Given the description of an element on the screen output the (x, y) to click on. 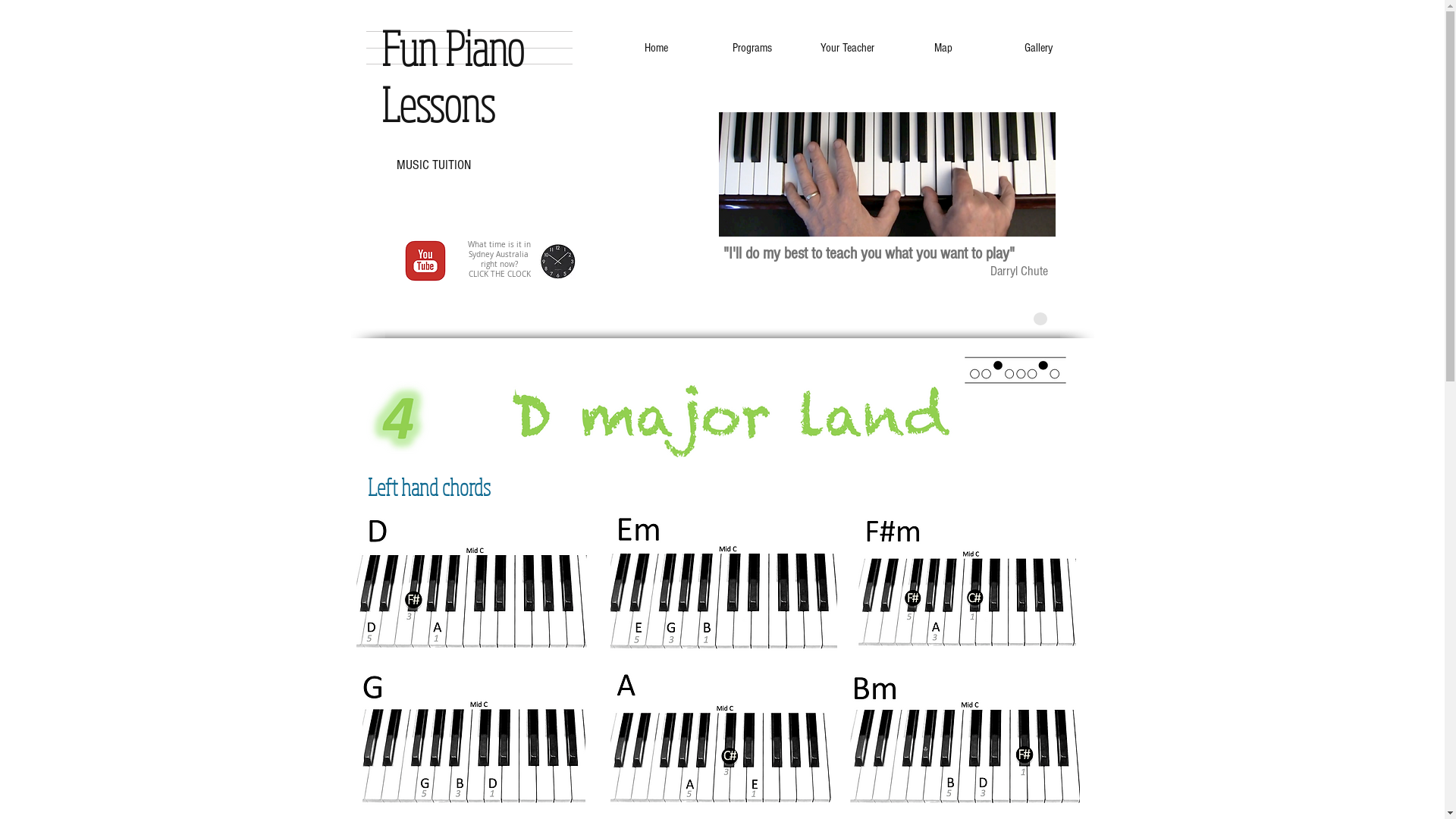
Home Element type: text (655, 47)
Your Teacher Element type: text (846, 47)
Unknown.png Element type: hover (424, 260)
Map Element type: text (942, 47)
Gallery Element type: text (1037, 47)
Programs Element type: text (751, 47)
